Given the description of an element on the screen output the (x, y) to click on. 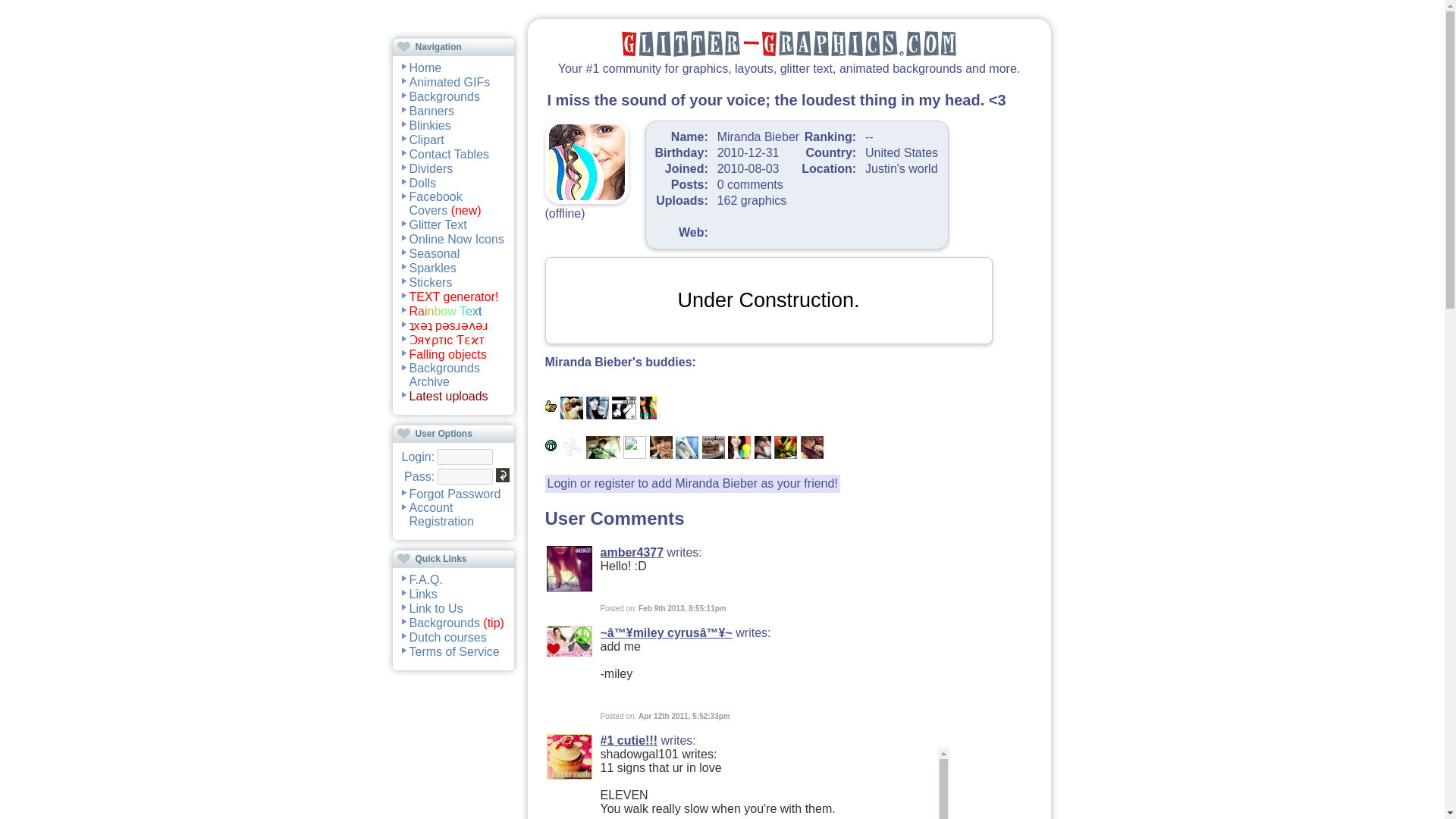
Backgrounds (444, 95)
Rainbow Text (445, 310)
Dividers (430, 168)
Blinkies (430, 124)
Sparkles (433, 267)
Stickers (430, 282)
Latest uploads (448, 395)
Forgot Password (454, 492)
Glitter Text (438, 224)
Dolls (422, 182)
Seasonal (434, 253)
Terms of Service (454, 650)
F.A.Q. (425, 579)
Links (423, 593)
Falling objects (447, 353)
